Given the description of an element on the screen output the (x, y) to click on. 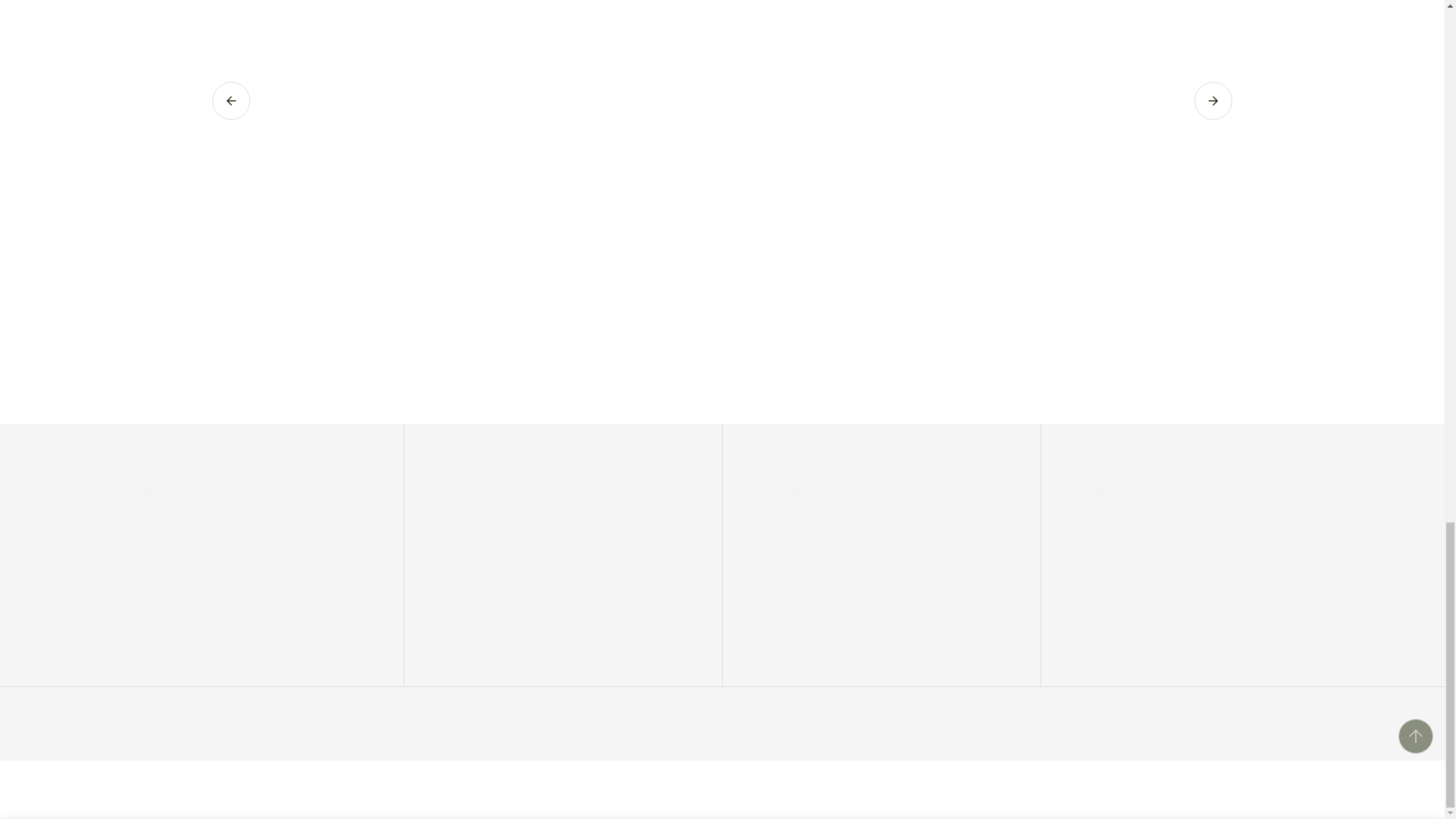
English (880, 530)
